Given the description of an element on the screen output the (x, y) to click on. 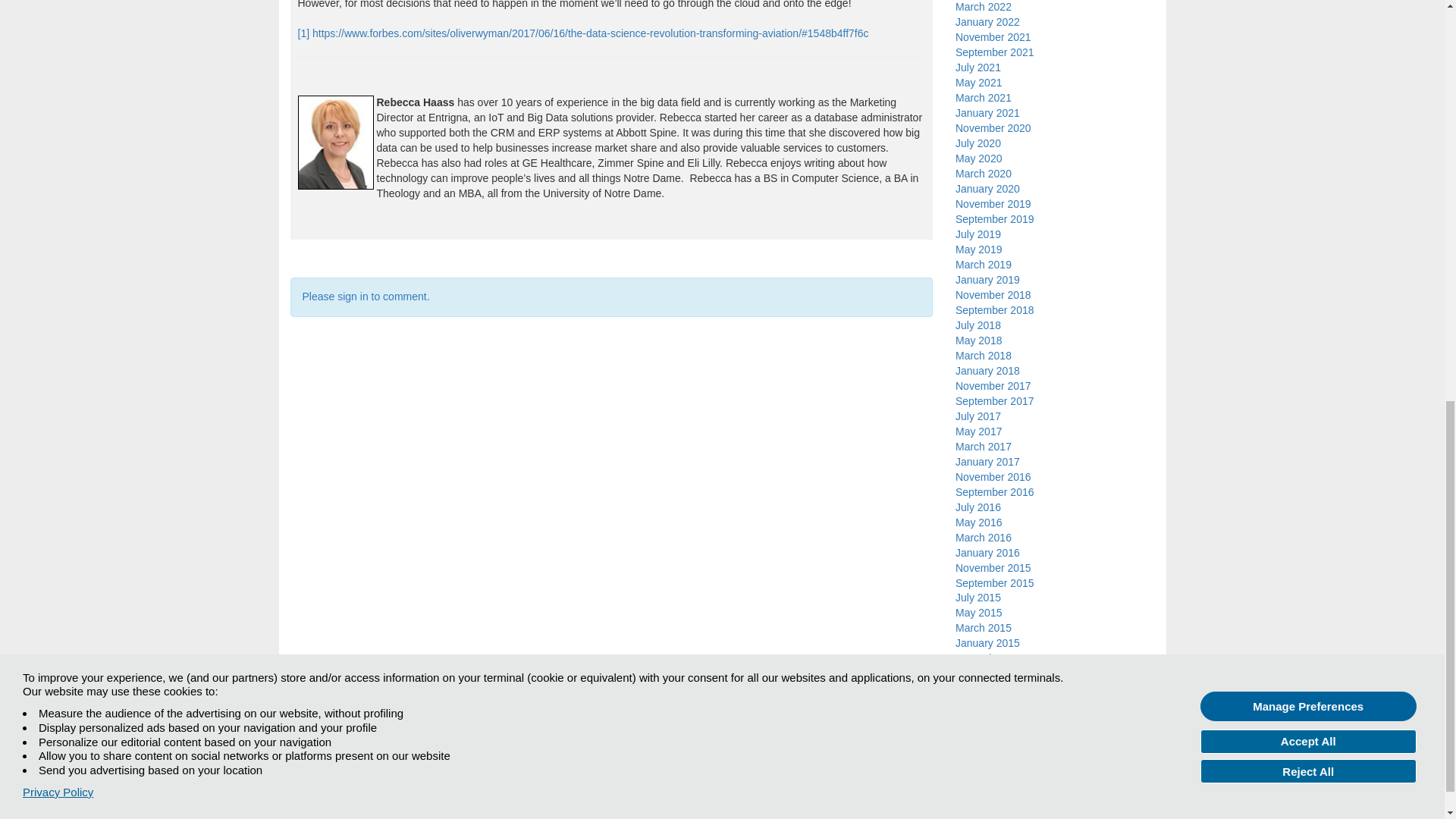
Home (302, 776)
Sign in to comment (365, 296)
Sitemap (344, 776)
